Given the description of an element on the screen output the (x, y) to click on. 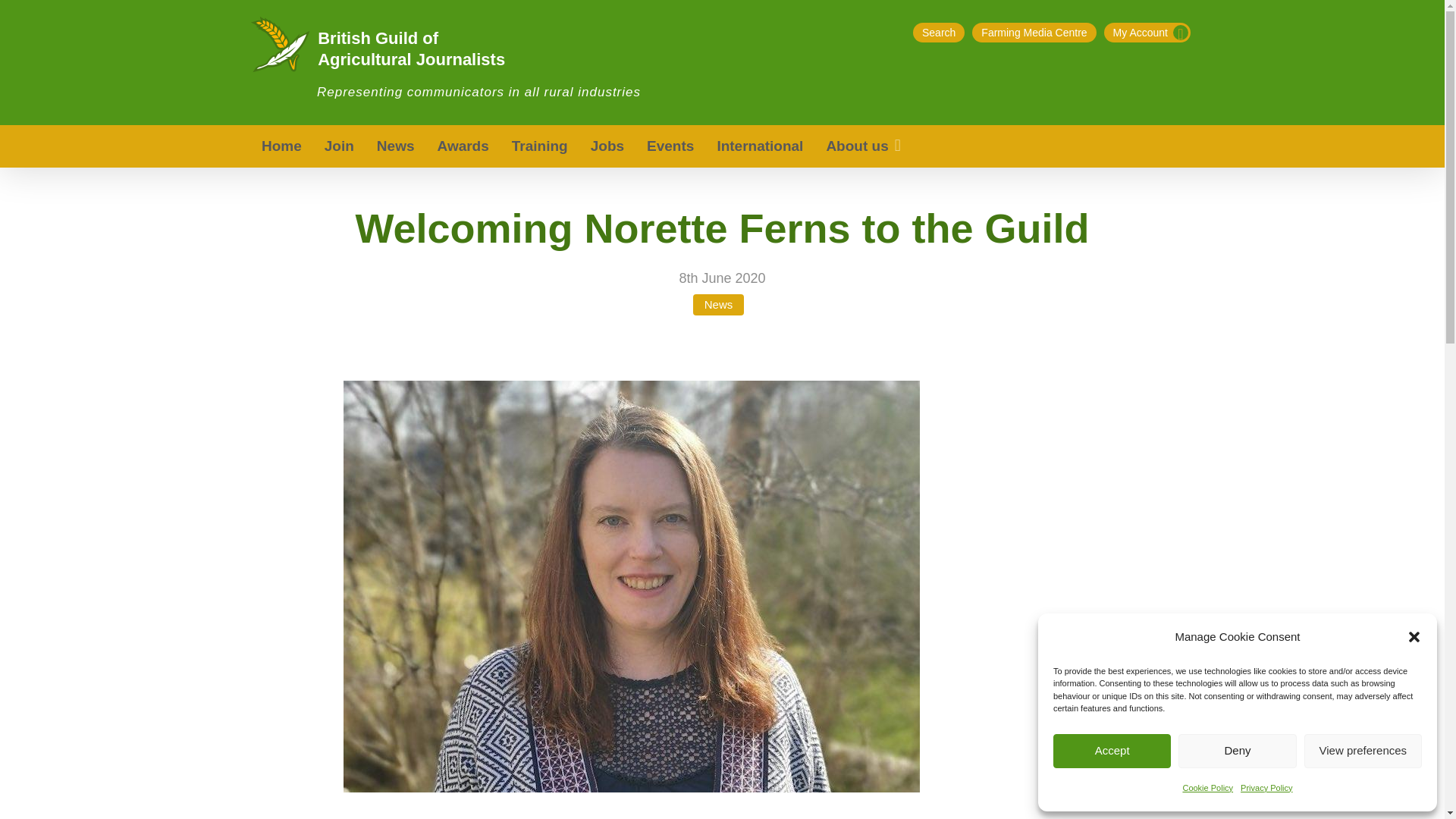
Home (281, 146)
My Account (1147, 32)
View preferences (1363, 750)
Join (339, 146)
Training (539, 146)
Deny (1236, 750)
Events (669, 146)
Search (937, 32)
Accept (1111, 750)
Awards (463, 146)
News (395, 146)
About us (863, 146)
Farming Media Centre (1034, 32)
Cookie Policy (1207, 787)
Privacy Policy (1266, 787)
